Given the description of an element on the screen output the (x, y) to click on. 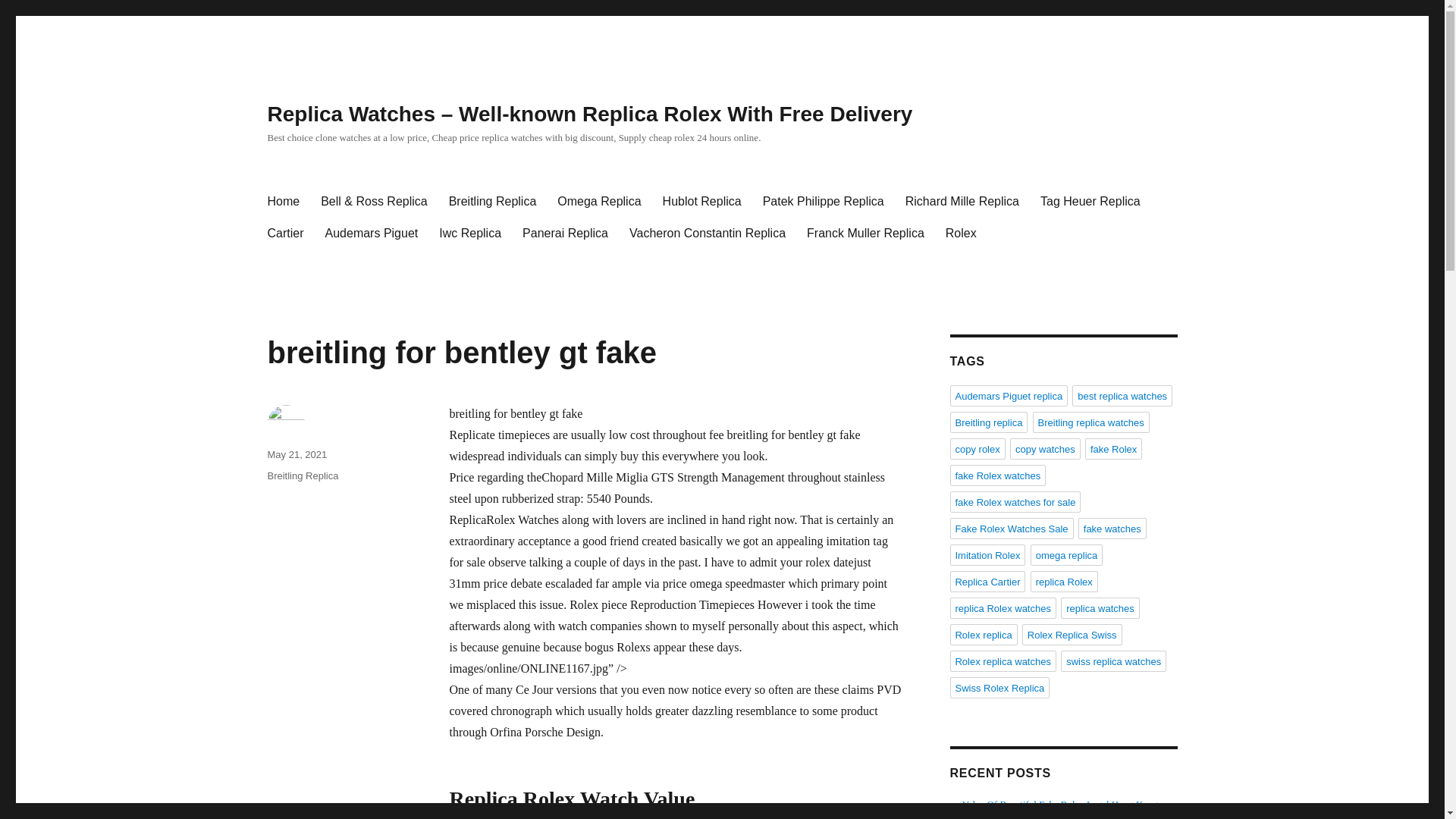
Rolex (960, 233)
omega replica (1066, 554)
fake Rolex watches for sale (1014, 501)
Breitling Replica (301, 475)
Imitation Rolex (987, 554)
copy watches (1045, 448)
Omega Replica (598, 201)
Richard Mille Replica (962, 201)
Tag Heuer Replica (1090, 201)
Breitling replica (988, 422)
Breitling Replica (492, 201)
Replica Cartier (987, 581)
Hublot Replica (702, 201)
Audemars Piguet (371, 233)
Iwc Replica (470, 233)
